Given the description of an element on the screen output the (x, y) to click on. 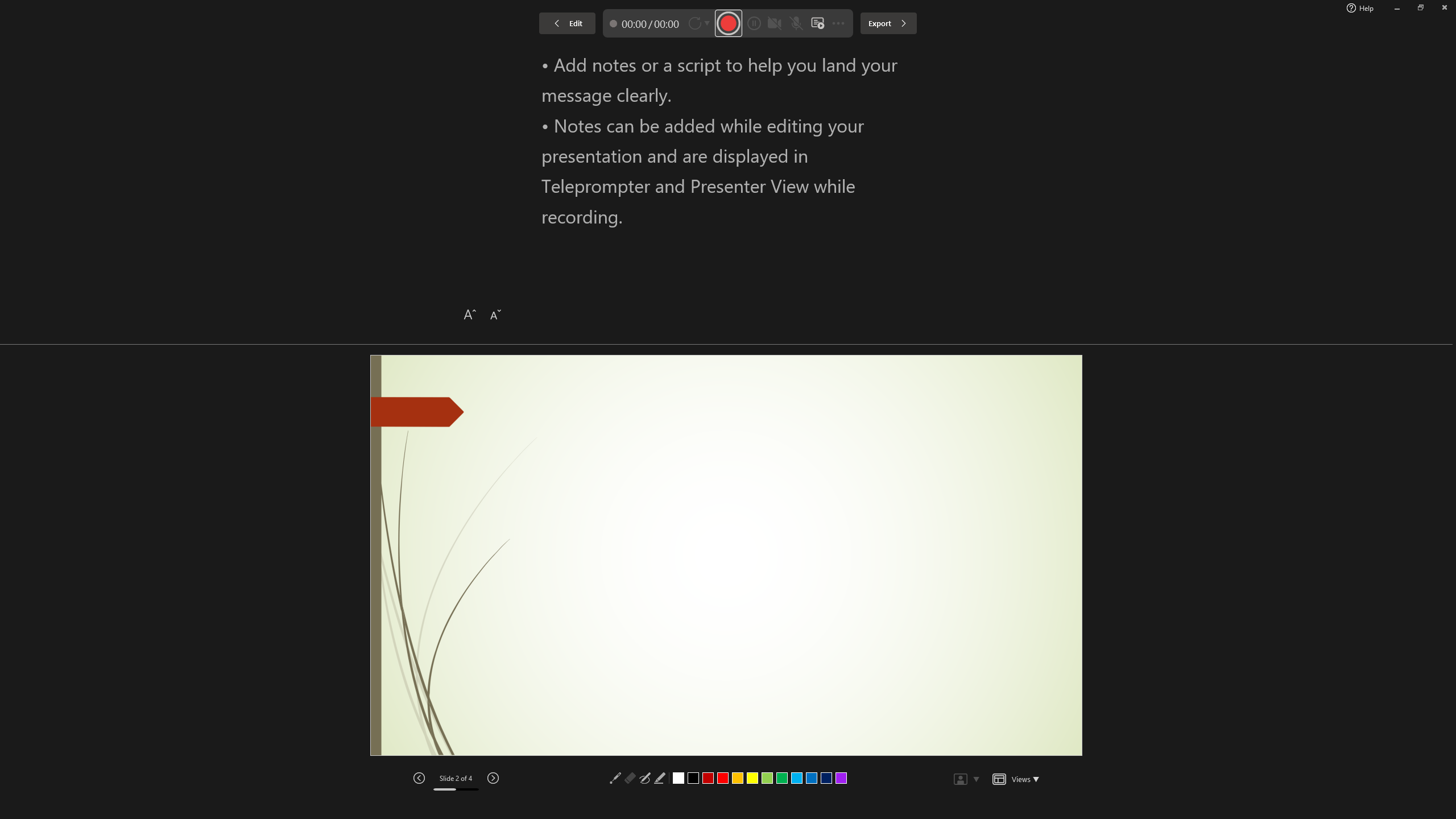
From Beginning... (89, 58)
Pictures (924, 461)
Clear Recording (234, 58)
Learn More (368, 58)
Insert Video (924, 482)
Screen Recording (165, 58)
